Given the description of an element on the screen output the (x, y) to click on. 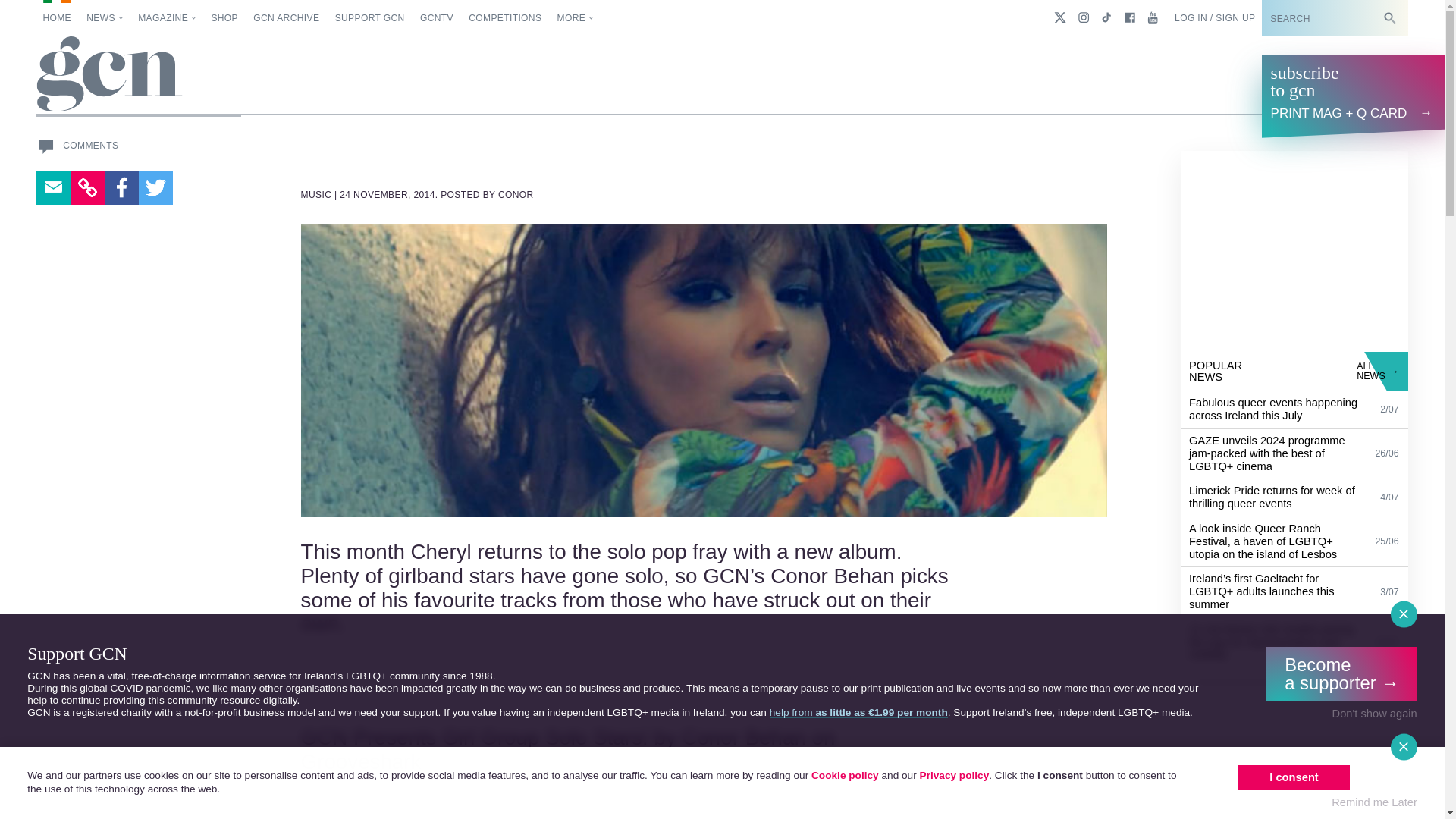
SUPPORT GCN (369, 18)
COMPETITIONS (505, 18)
SHOP (224, 18)
Subscribe to GCN (1324, 18)
Log in or sign up to GCN (1215, 18)
GCNTV (436, 18)
GCN ARCHIVE (285, 18)
HOME (56, 18)
MORE (575, 18)
NEWS (104, 18)
MAGAZINE (167, 18)
